Given the description of an element on the screen output the (x, y) to click on. 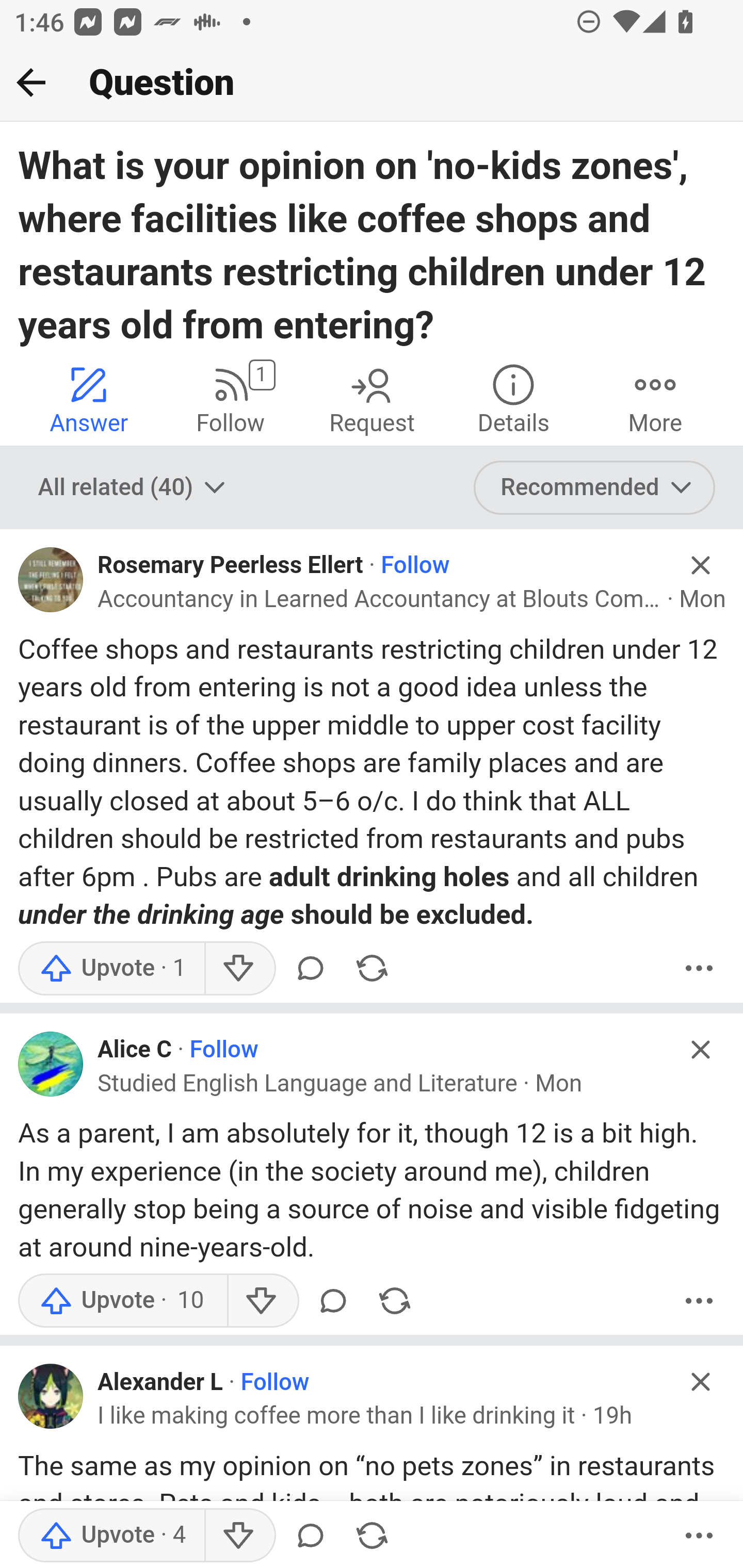
Back (30, 82)
Answer (88, 398)
1 Follow (230, 398)
Request (371, 398)
Details (513, 398)
More (655, 398)
All related (40) (133, 487)
Recommended (594, 487)
Hide (700, 564)
Profile photo for Rosemary Peerless Ellert (50, 579)
Rosemary Peerless Ellert (230, 565)
Follow (414, 565)
Upvote (111, 968)
Downvote (238, 968)
Comment (310, 968)
Share (372, 968)
More (699, 968)
Hide (700, 1048)
Profile photo for Alice C (50, 1063)
Alice C (135, 1050)
Follow (223, 1050)
Upvote (122, 1301)
Downvote (262, 1301)
Comment (332, 1301)
Share (394, 1301)
More (699, 1301)
Hide (700, 1381)
Profile photo for Alexander L (50, 1397)
Alexander L (160, 1382)
Follow (274, 1382)
Upvote (111, 1535)
Downvote (238, 1535)
Comment (310, 1535)
Share (372, 1535)
More (699, 1535)
